Given the description of an element on the screen output the (x, y) to click on. 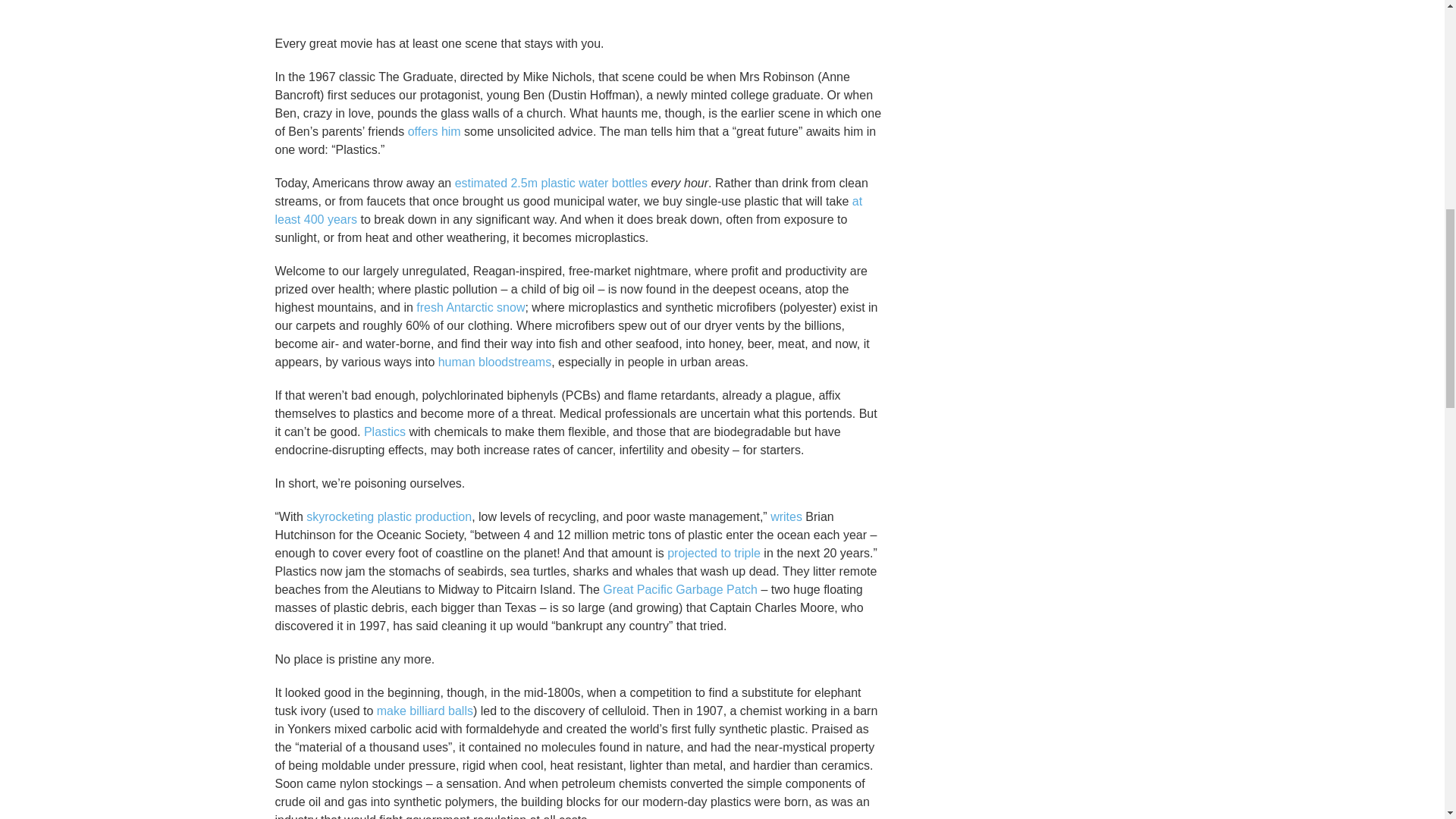
skyrocketing plastic production (388, 516)
offers him (434, 131)
estimated 2.5m plastic water bottles (550, 182)
human bloodstreams (494, 361)
fresh Antarctic snow (470, 307)
at least 400 years (568, 210)
Plastics (385, 431)
